Given the description of an element on the screen output the (x, y) to click on. 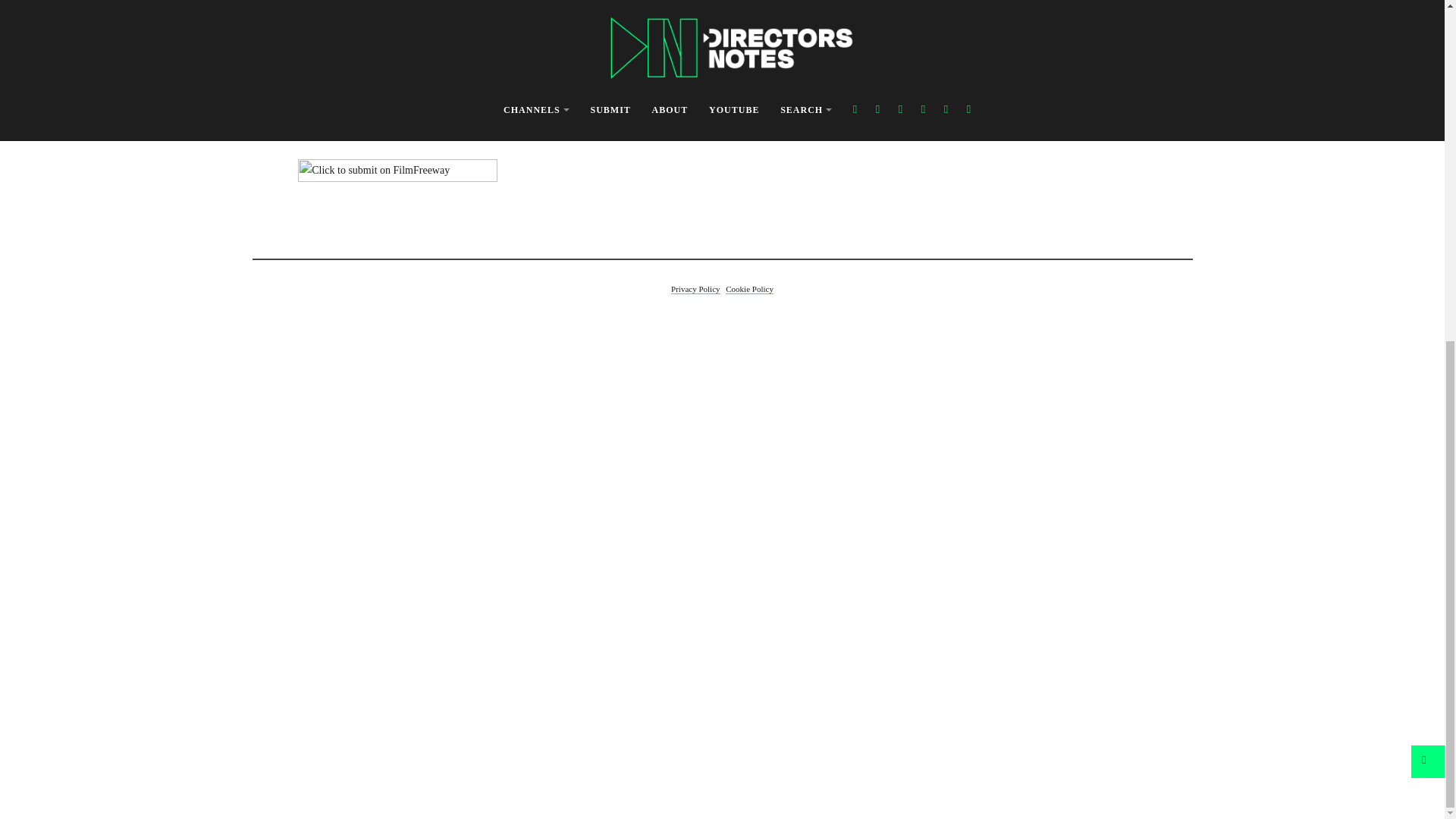
Directors Notes on YouTube (724, 162)
here (403, 129)
Click to submit on FilmFreeway (397, 177)
Cookie Policy (749, 289)
Click to submit on FilmFreeway (397, 177)
Privacy Policy (695, 289)
